Given the description of an element on the screen output the (x, y) to click on. 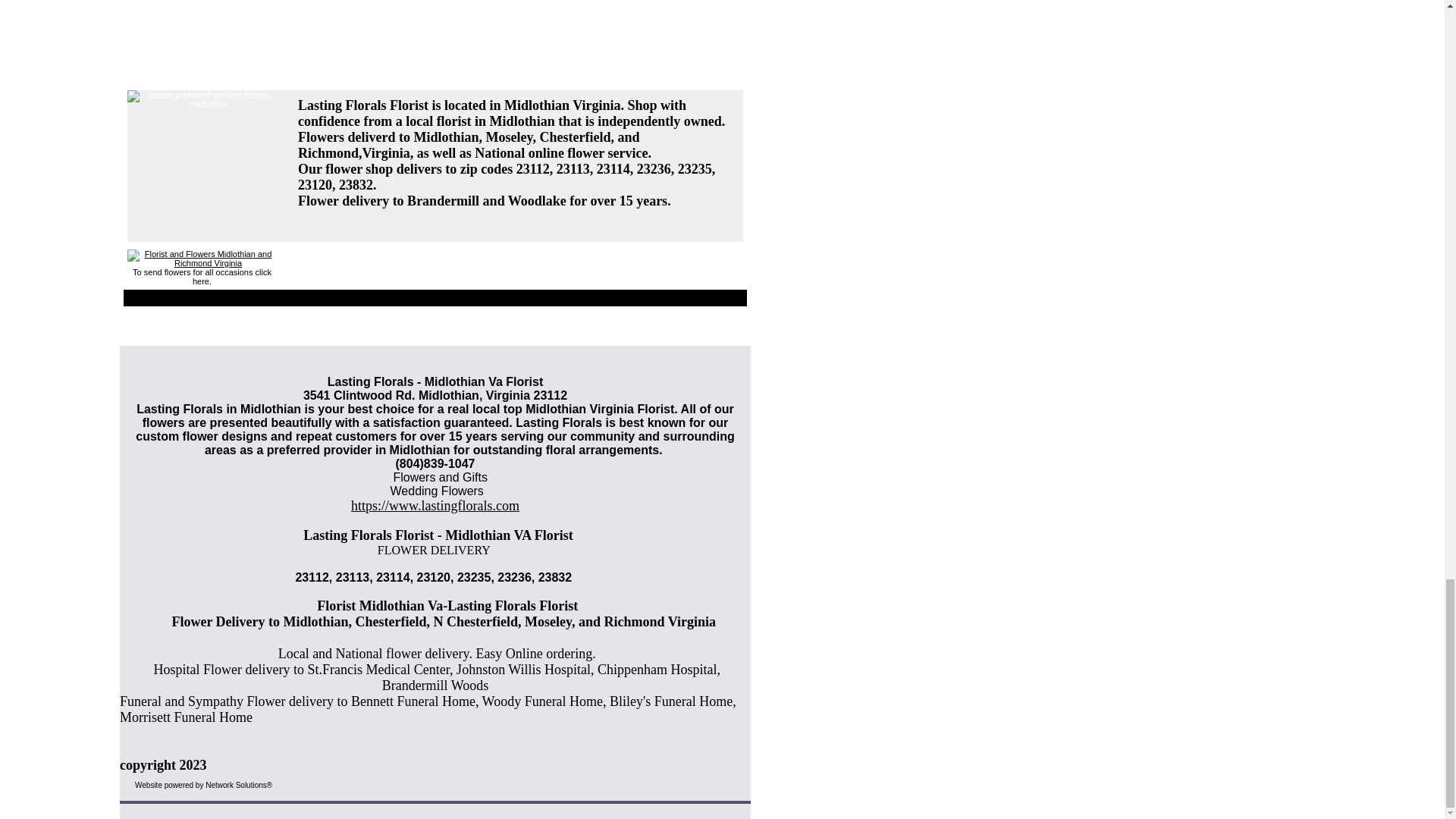
Website (148, 785)
Website (148, 785)
